Given the description of an element on the screen output the (x, y) to click on. 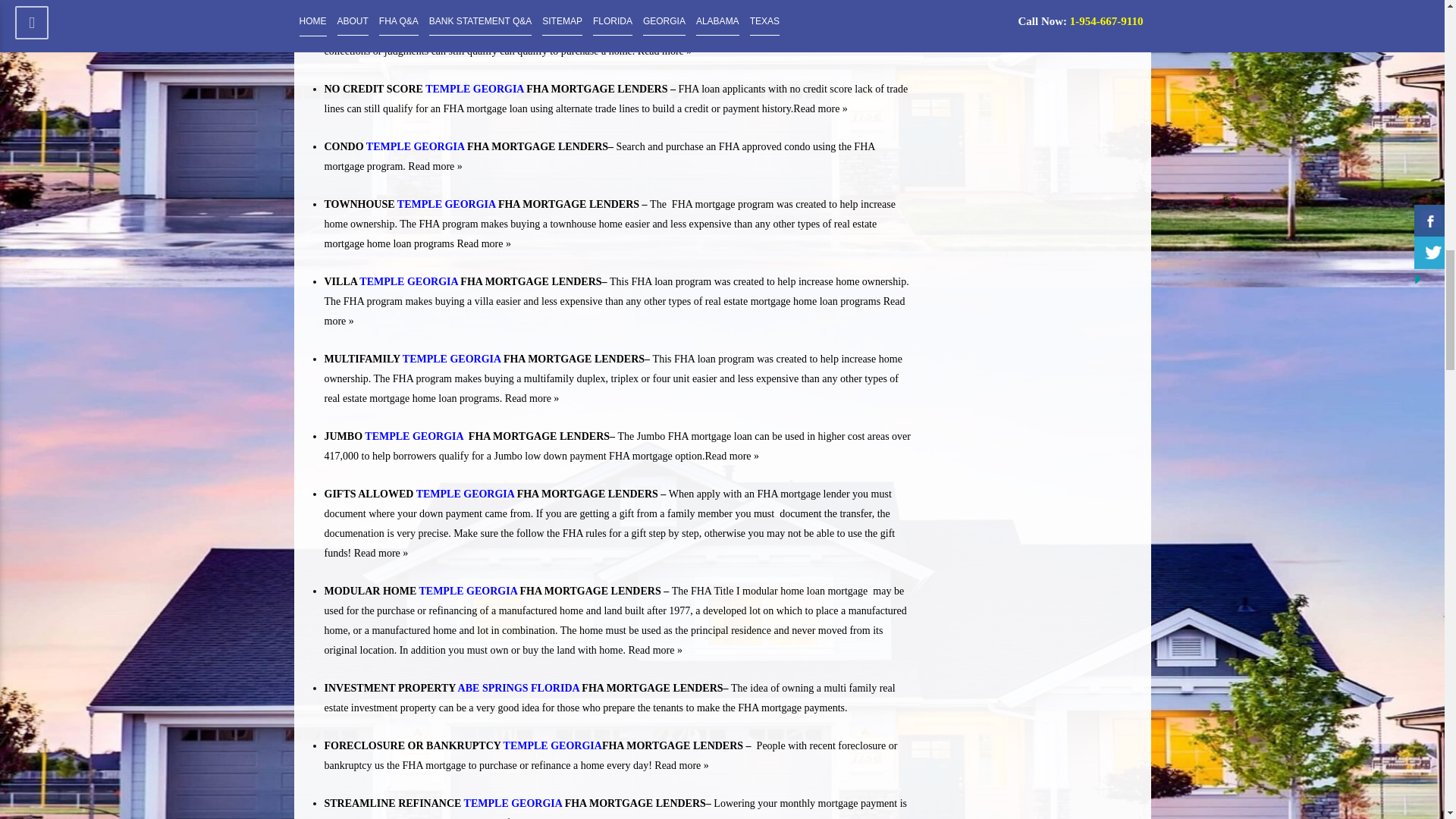
tax liens (868, 30)
NO CREDIT SCORE TEMPLE GEORGIA FHA MORTGAGE LENDERS (496, 89)
collections or judgments (377, 50)
BAD CREDIT TEMPLE GEORGIA FHA MORTGAGE LENDERS (479, 11)
foreclosure or Bankruptcy (790, 30)
